Given the description of an element on the screen output the (x, y) to click on. 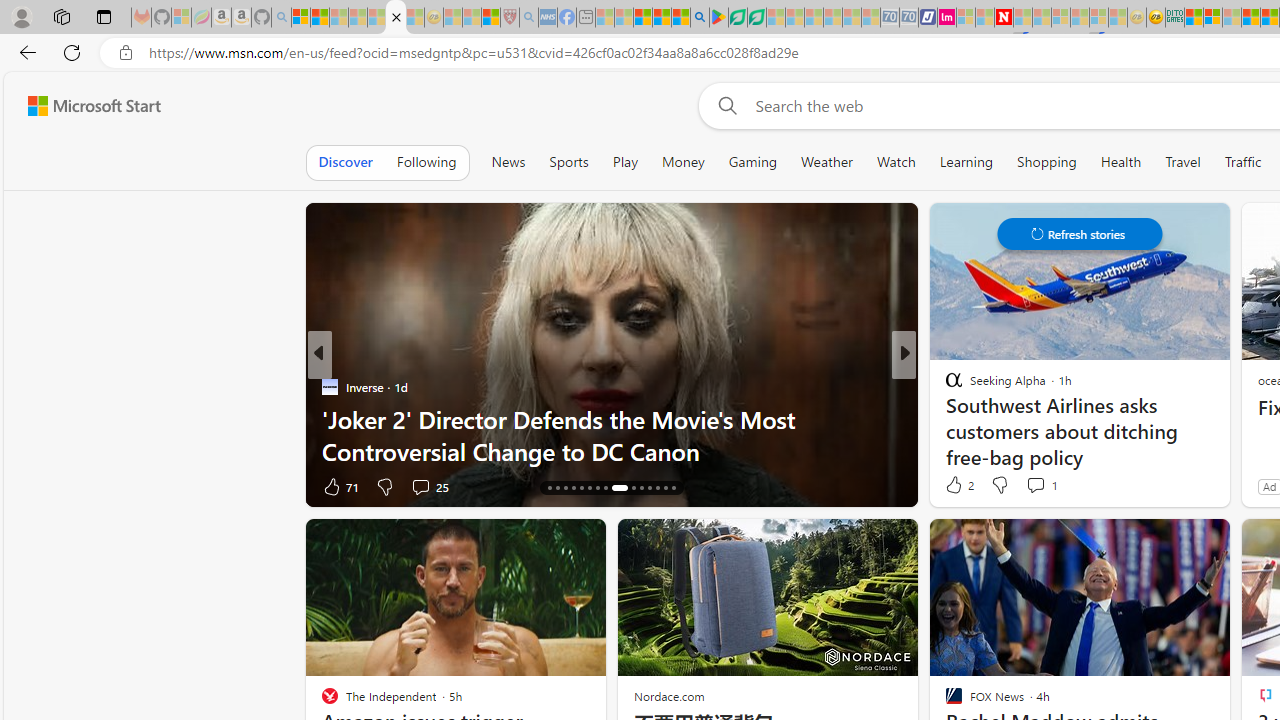
View comments 1 Comment (1035, 485)
Microsoft Start (94, 105)
The Washington Post (944, 386)
AutomationID: tab-29 (664, 487)
Sports (568, 161)
Bluey: Let's Play! - Apps on Google Play (719, 17)
Business Insider (944, 386)
AutomationID: tab-16 (549, 487)
Local - MSN (491, 17)
View comments 7 Comment (1048, 486)
View comments 9 Comment (1041, 486)
Ad Choice (287, 486)
View comments 3 Comment (1041, 486)
